Given the description of an element on the screen output the (x, y) to click on. 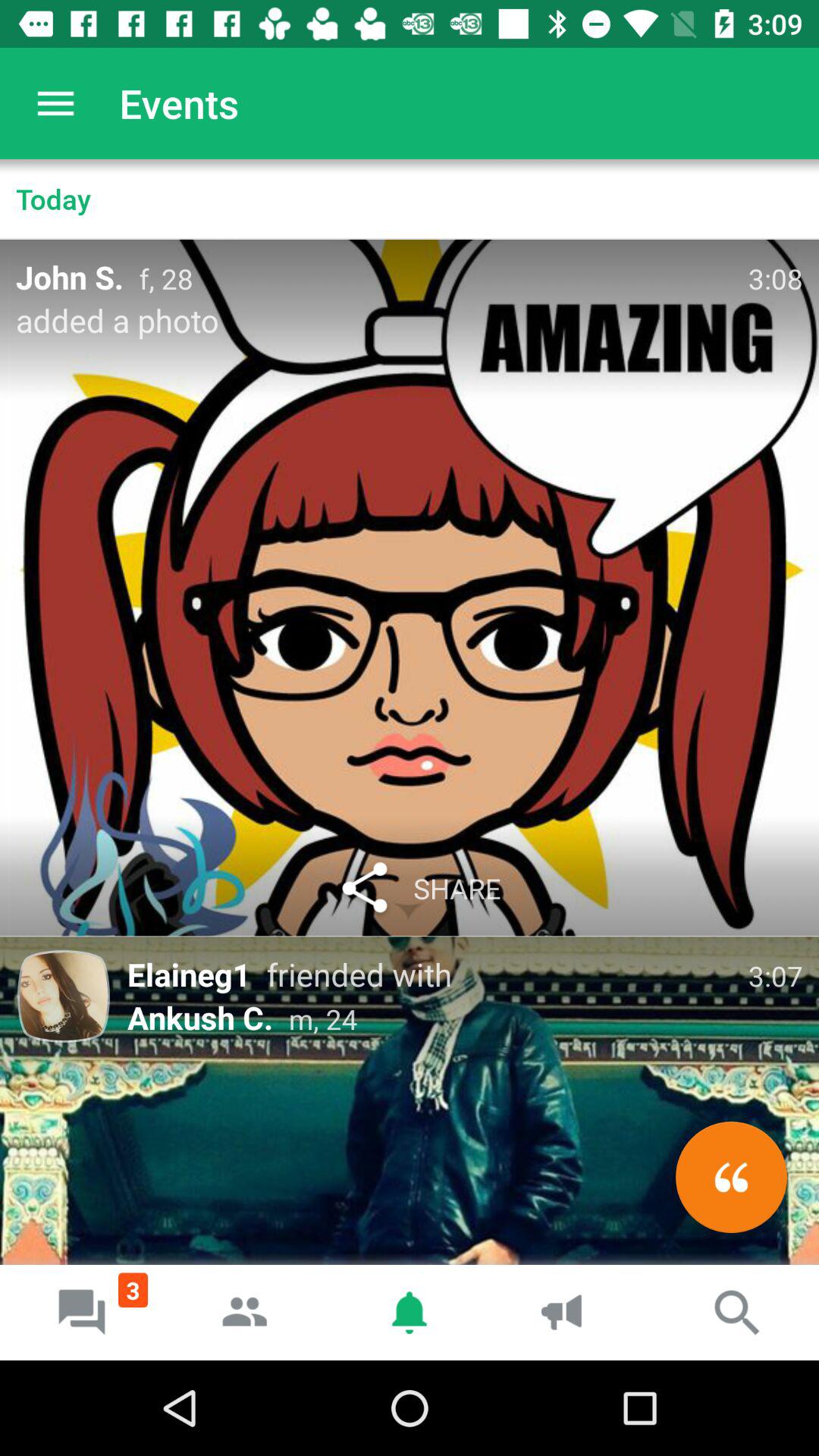
add comment (731, 1177)
